Given the description of an element on the screen output the (x, y) to click on. 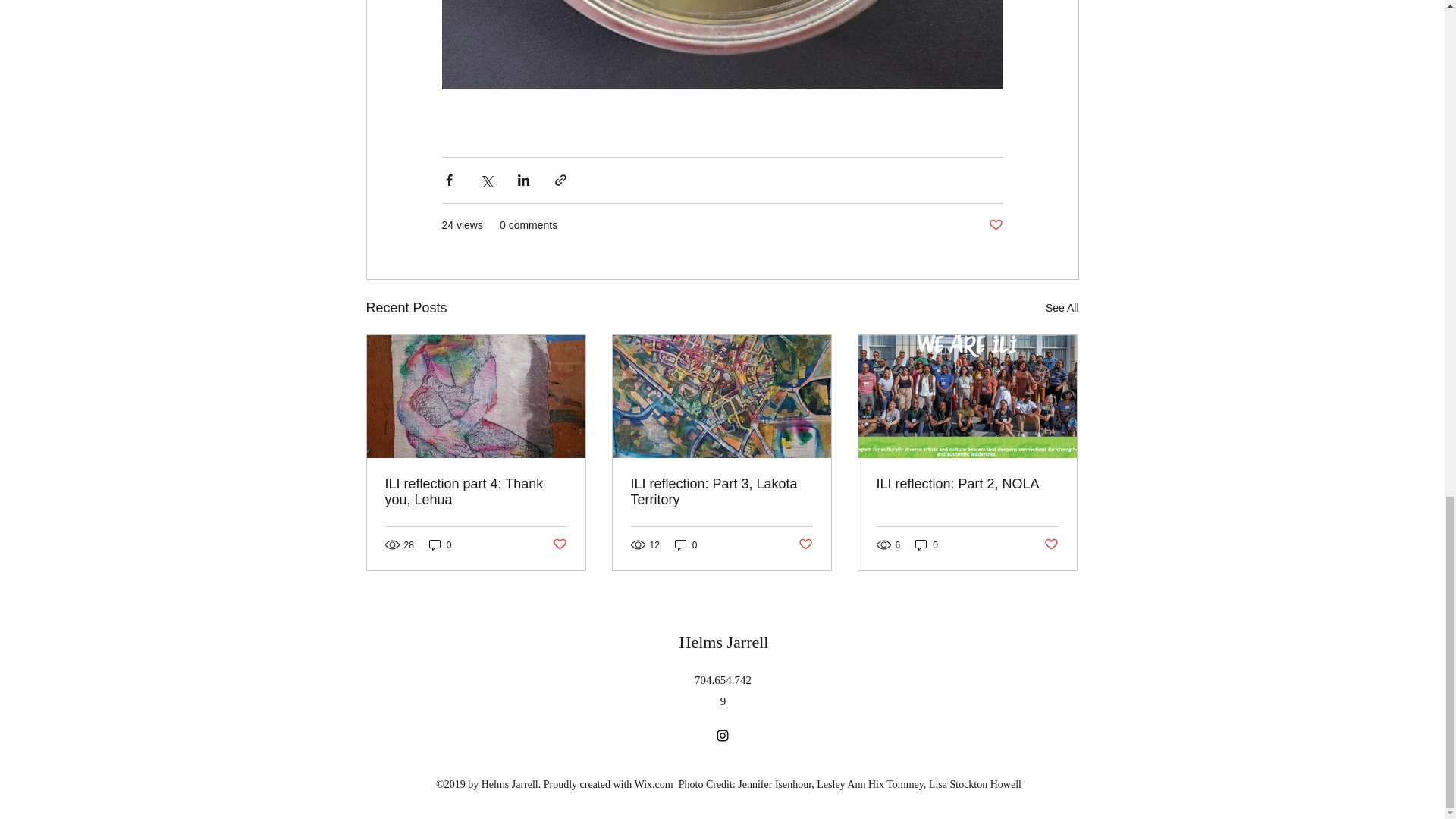
ILI reflection: Part 3, Lakota Territory (721, 491)
Post not marked as liked (1050, 544)
0 (440, 544)
0 (685, 544)
Post not marked as liked (995, 225)
0 (926, 544)
ILI reflection part 4: Thank you, Lehua (476, 491)
Post not marked as liked (804, 544)
ILI reflection: Part 2, NOLA (967, 483)
Post not marked as liked (558, 544)
